Given the description of an element on the screen output the (x, y) to click on. 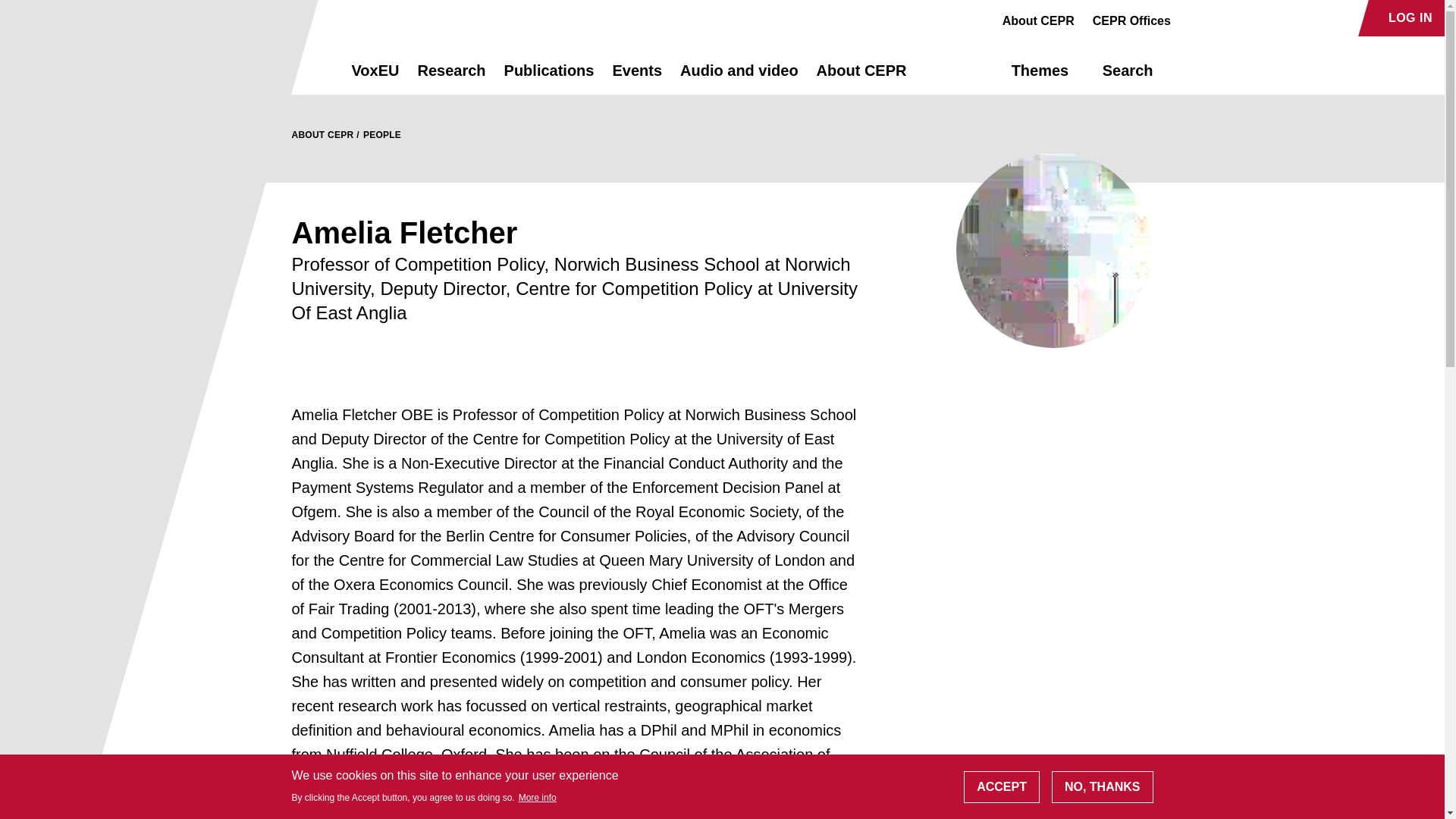
VoxEU (375, 77)
Return to the homepage (293, 69)
Go to Audioboom profile (1217, 17)
Audio and video (738, 77)
Go to Linkedin profile (1243, 18)
Events (636, 77)
Publications (548, 77)
Go to Facebook profile (1190, 17)
Research (450, 77)
